Given the description of an element on the screen output the (x, y) to click on. 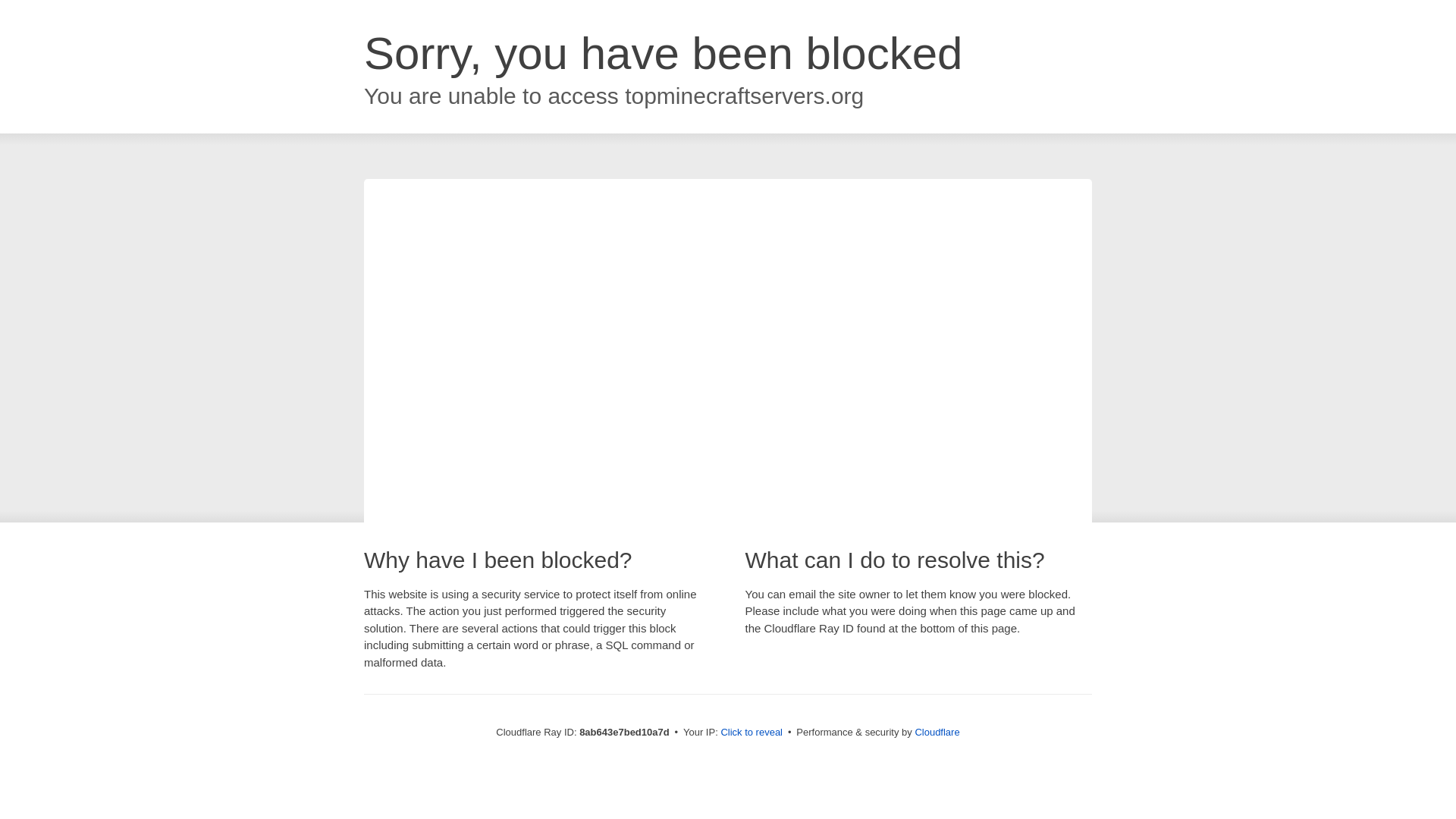
Click to reveal (751, 732)
Cloudflare (936, 731)
